Given the description of an element on the screen output the (x, y) to click on. 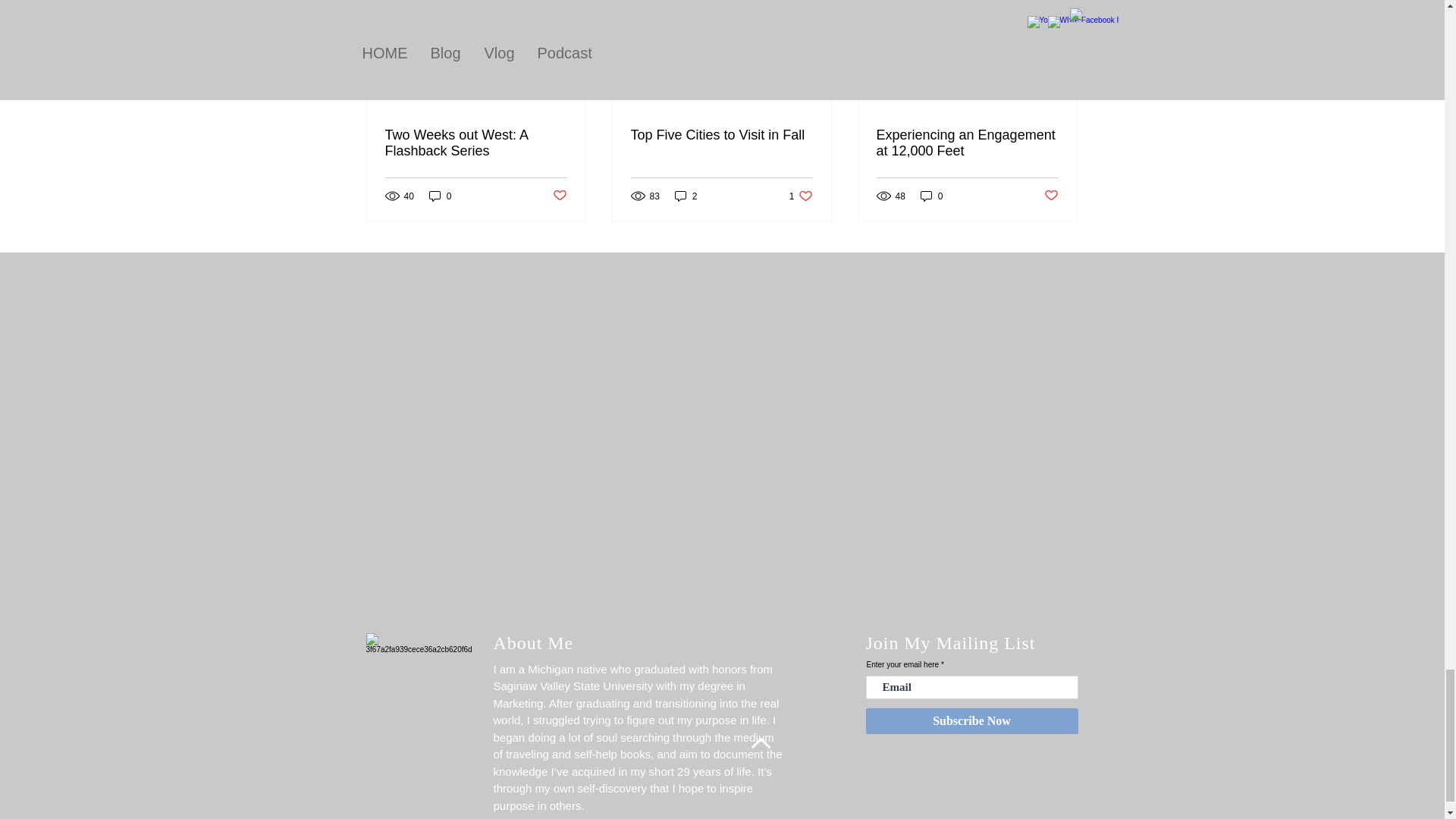
Post not marked as liked (558, 195)
0 (440, 196)
Two Weeks out West: A Flashback Series (476, 142)
Top Five Cities to Visit in Fall (721, 135)
Subscribe Now (972, 720)
2 (685, 196)
Experiencing an Engagement at 12,000 Feet (800, 196)
Post not marked as liked (967, 142)
0 (1050, 195)
